Given the description of an element on the screen output the (x, y) to click on. 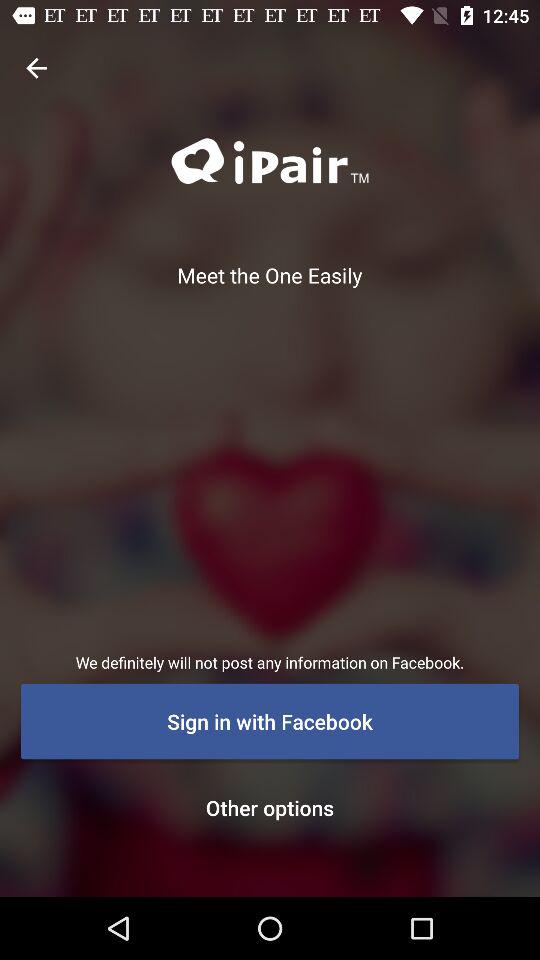
turn off icon above the other options icon (270, 721)
